Given the description of an element on the screen output the (x, y) to click on. 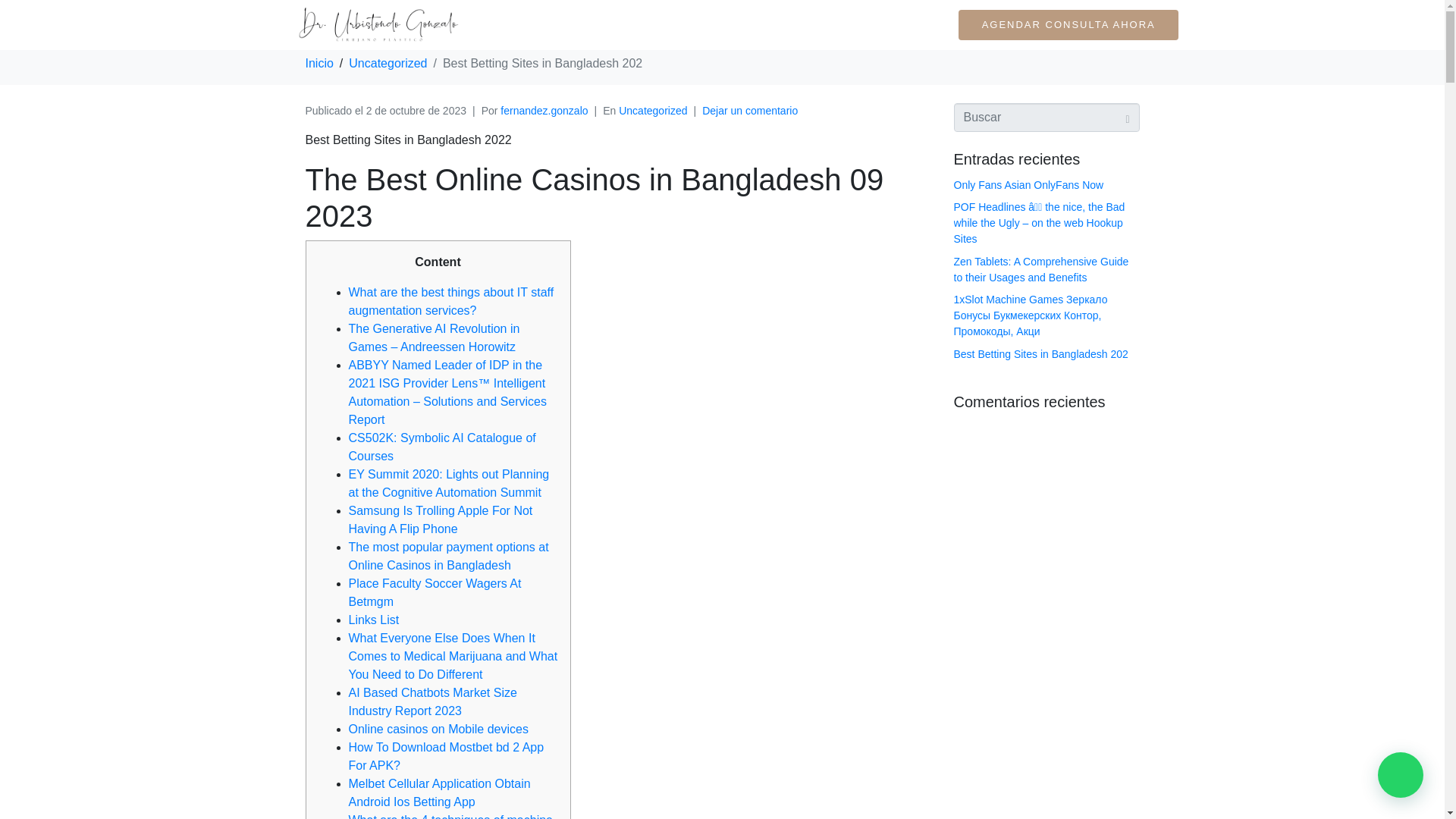
CS502K: Symbolic AI Catalogue of Courses (442, 446)
Uncategorized (652, 110)
Melbet Cellular Application Obtain Android Ios Betting App (440, 792)
Samsung Is Trolling Apple For Not Having A Flip Phone (440, 519)
Inicio (318, 62)
AI Based Chatbots Market Size Industry Report 2023 (432, 701)
Online casinos on Mobile devices (438, 728)
How To Download Mostbet bd 2 App For APK? (446, 756)
fernandez.gonzalo (544, 110)
Dejar un comentario (749, 110)
What are the 4 techniques of machine learning? (451, 816)
Place Faculty Soccer Wagers At Betmgm (435, 592)
